Given the description of an element on the screen output the (x, y) to click on. 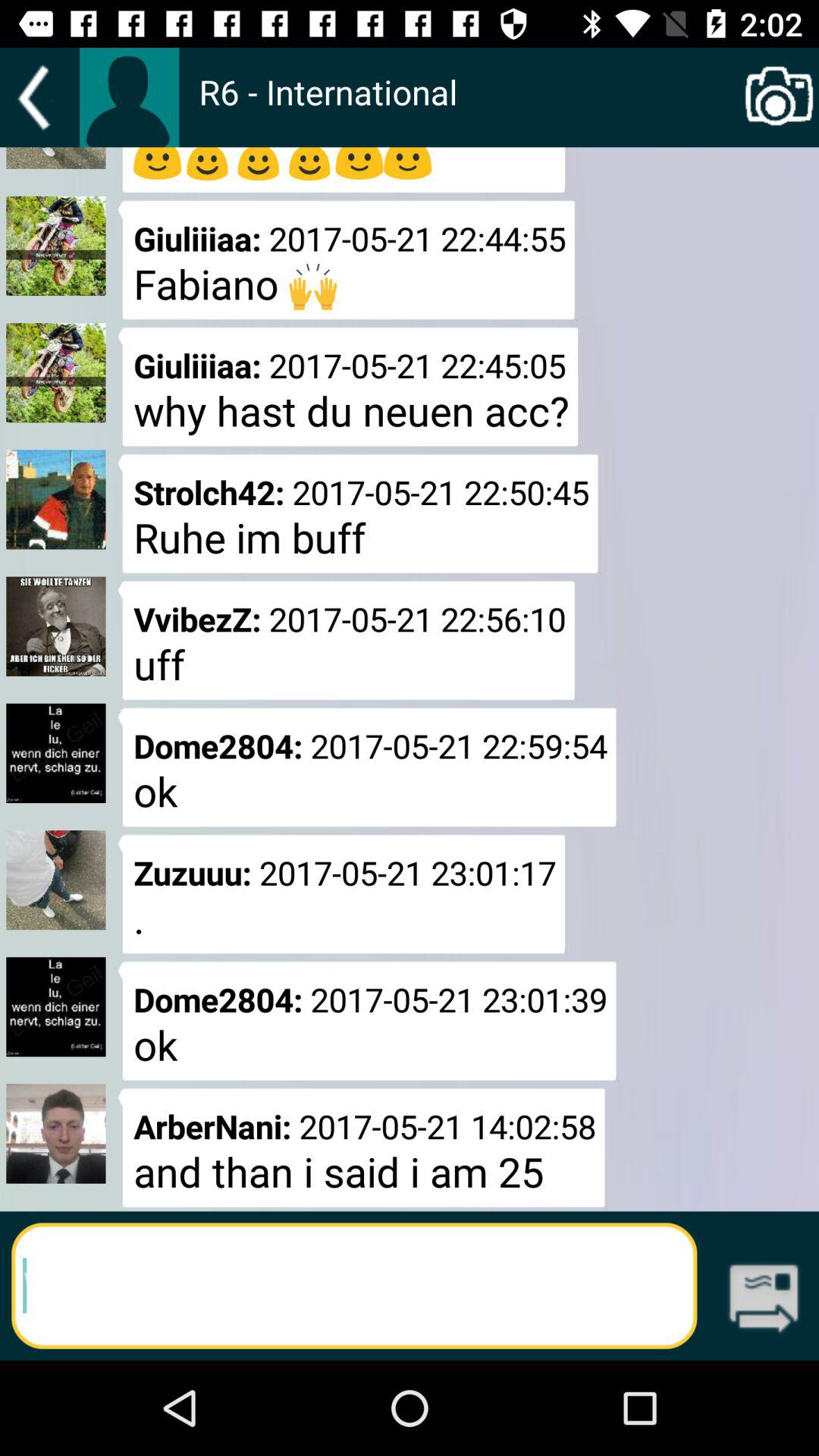
select the icon below the dome2804 2017 05 (361, 1147)
